Given the description of an element on the screen output the (x, y) to click on. 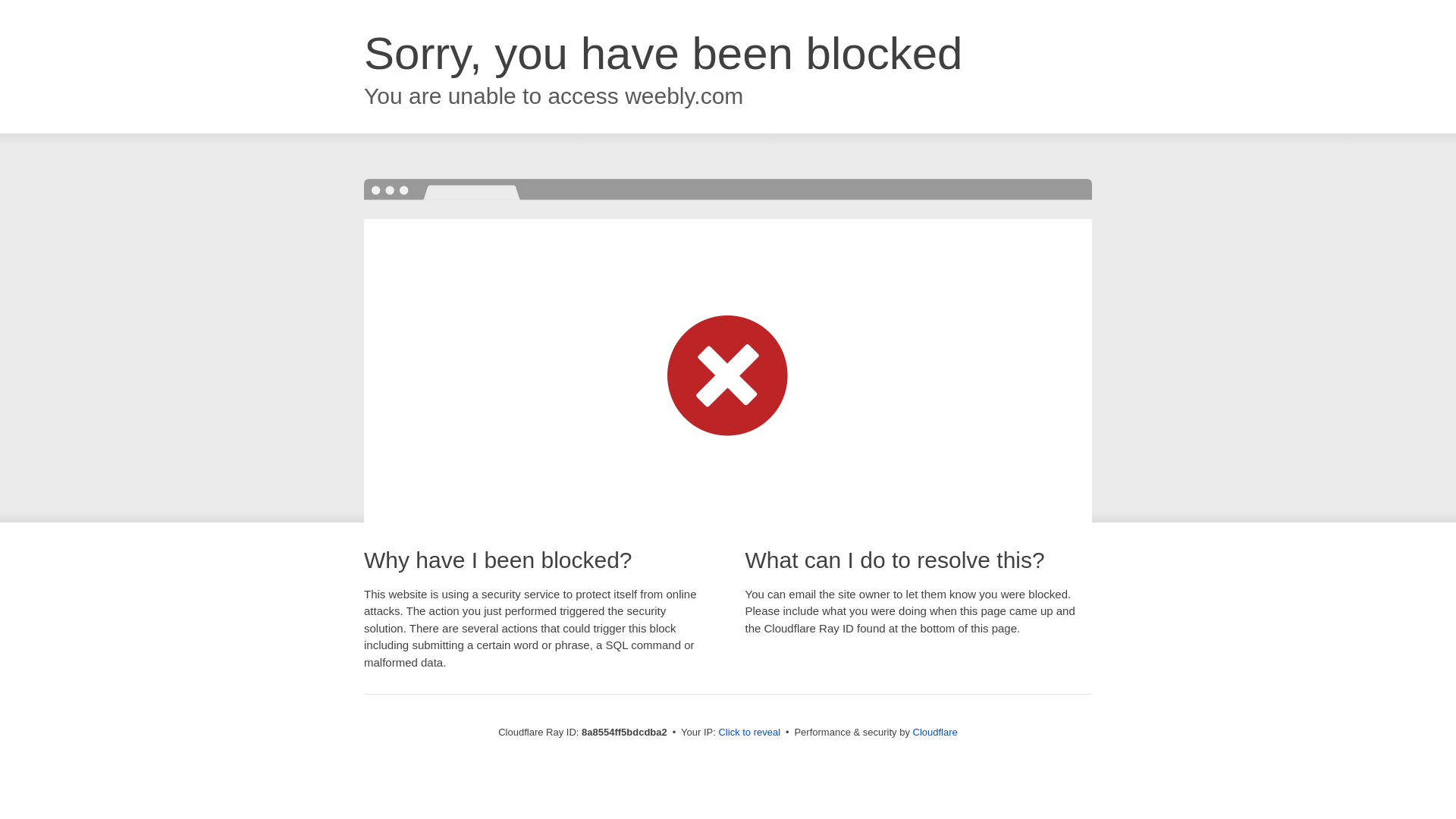
Cloudflare (935, 731)
Click to reveal (748, 732)
